Given the description of an element on the screen output the (x, y) to click on. 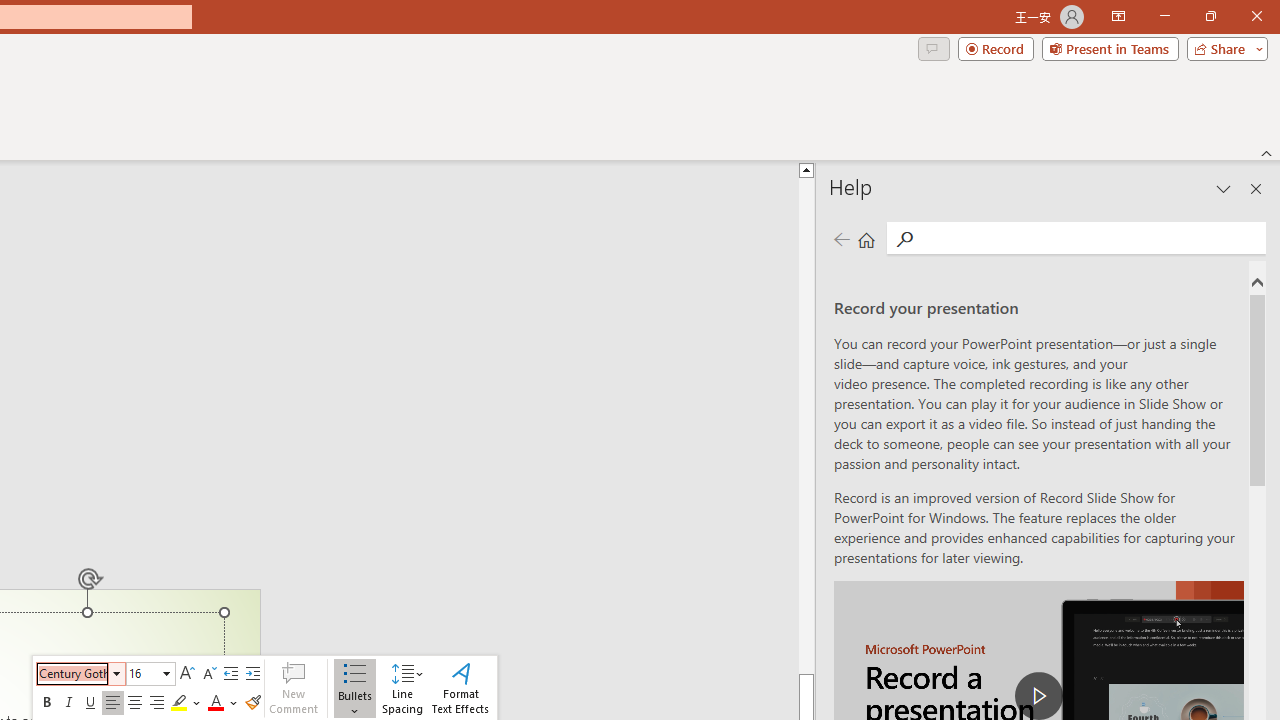
Previous page (841, 238)
Class: NetUIAnchor (402, 687)
